Given the description of an element on the screen output the (x, y) to click on. 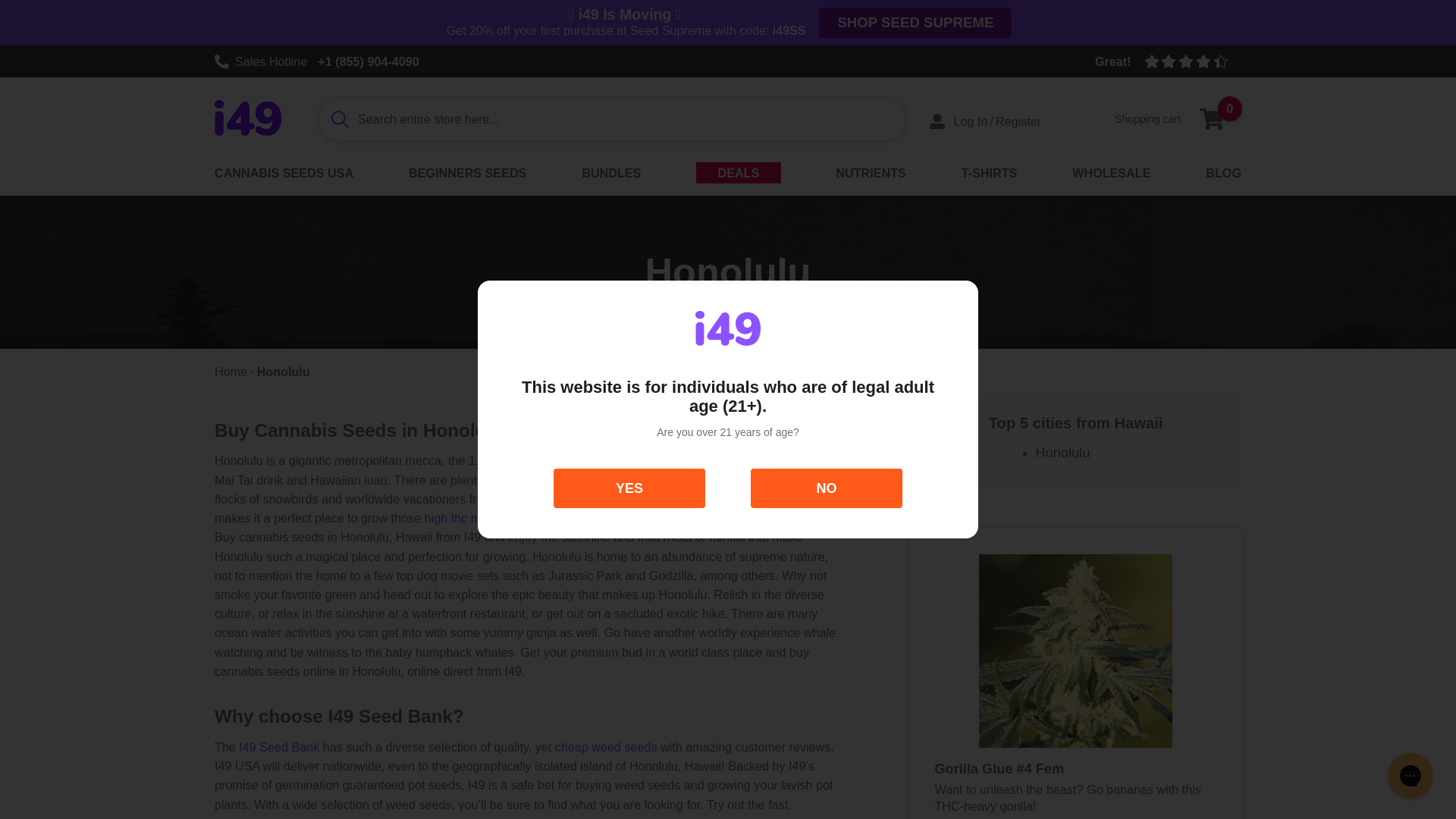
Register (1018, 120)
Log In (958, 120)
logo (727, 328)
Close (826, 487)
Gorgias live chat messenger (1175, 118)
I49 Seed Bank (1410, 775)
Go to Home Page (247, 117)
Enter (230, 371)
CANNABIS SEEDS USA (628, 487)
